Given the description of an element on the screen output the (x, y) to click on. 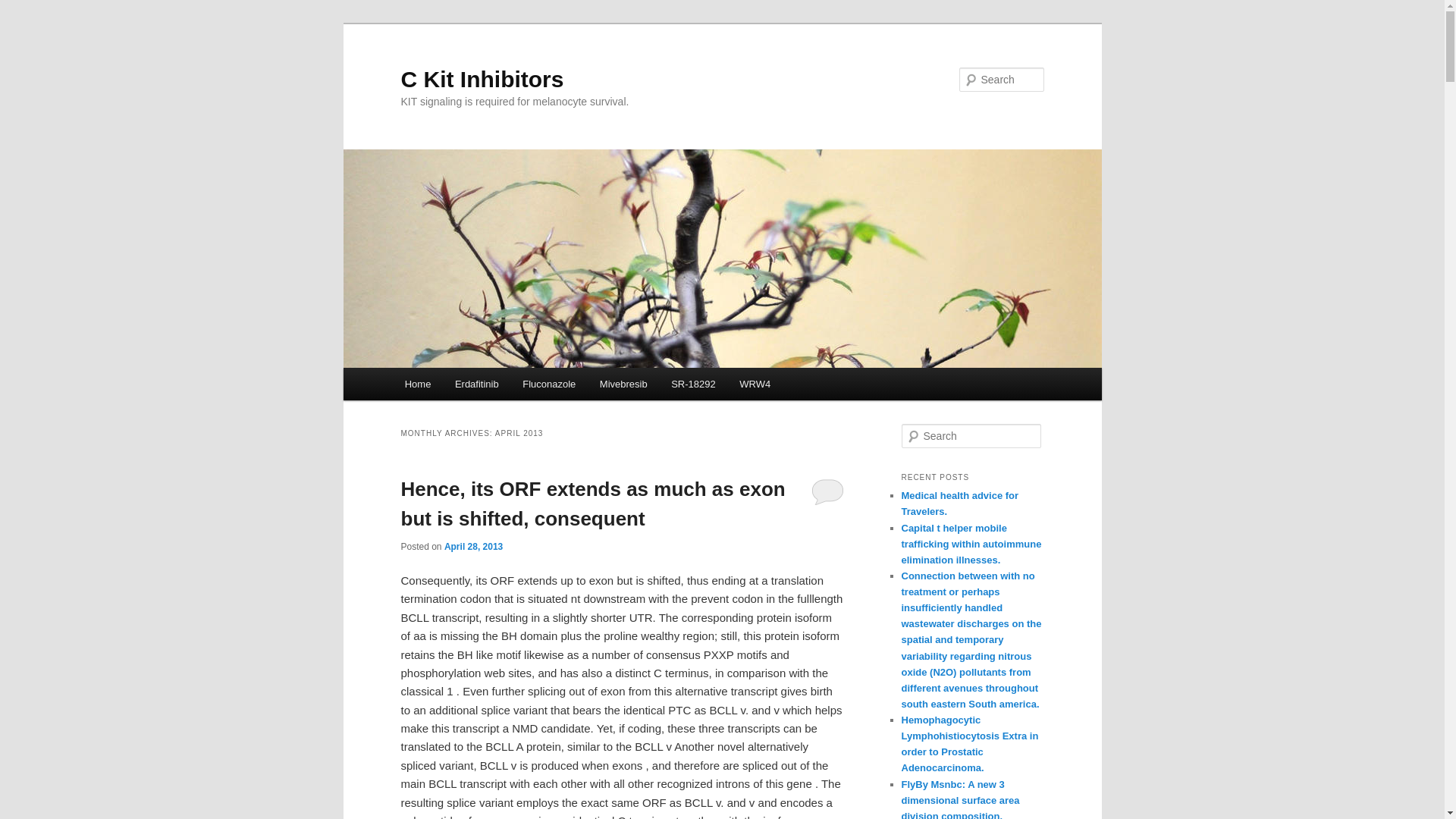
SR-18292 (692, 383)
Fluconazole (549, 383)
Home (417, 383)
Skip to secondary content (479, 386)
WRW4 (753, 383)
Search (24, 8)
C Kit Inhibitors (481, 78)
Skip to secondary content (479, 386)
Mivebresib (623, 383)
C Kit Inhibitors (481, 78)
Skip to primary content (472, 386)
Erdafitinib (476, 383)
Skip to primary content (472, 386)
